Given the description of an element on the screen output the (x, y) to click on. 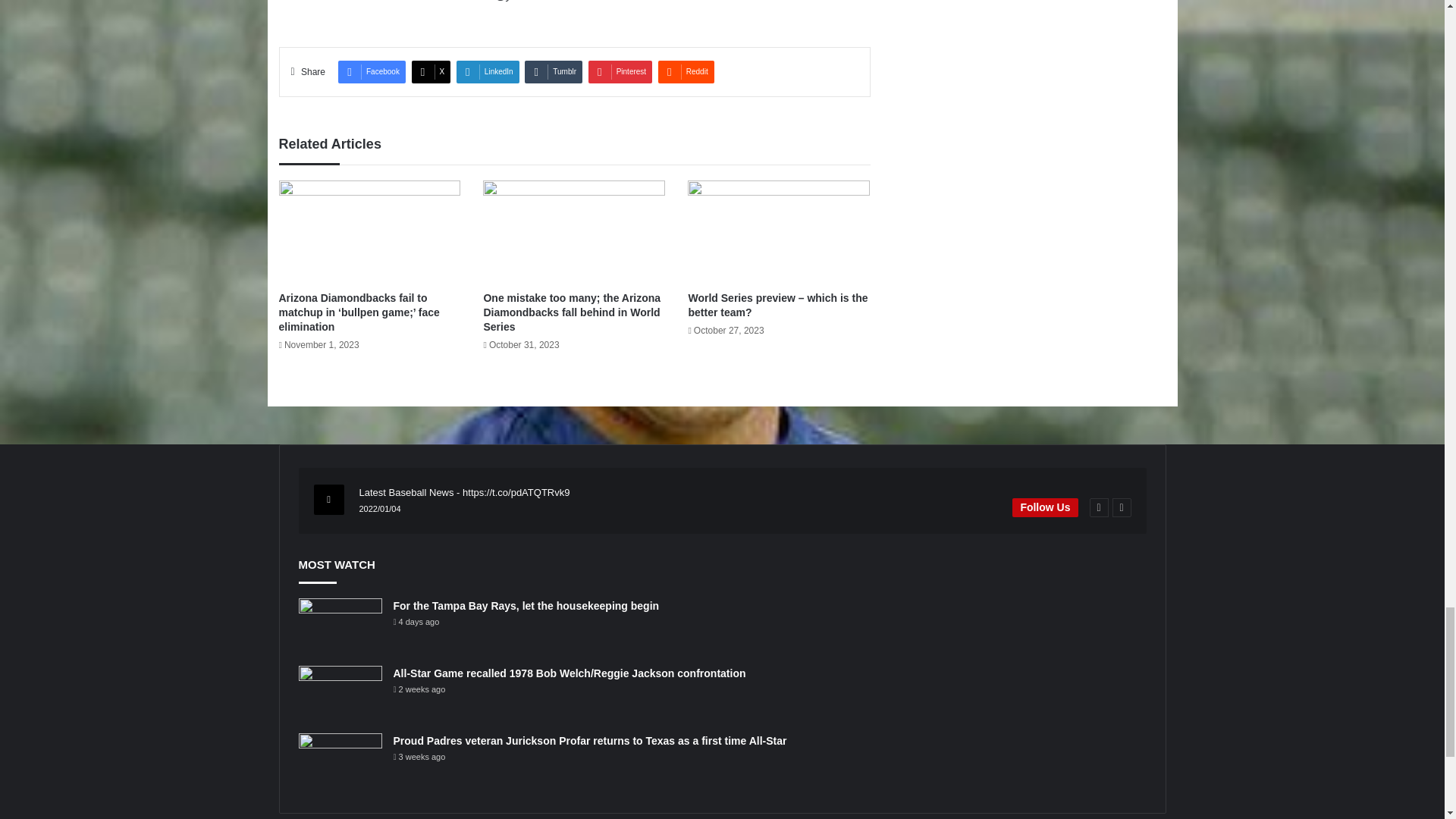
Facebook (371, 71)
Tumblr (553, 71)
Pinterest (620, 71)
X (431, 71)
LinkedIn (488, 71)
